Given the description of an element on the screen output the (x, y) to click on. 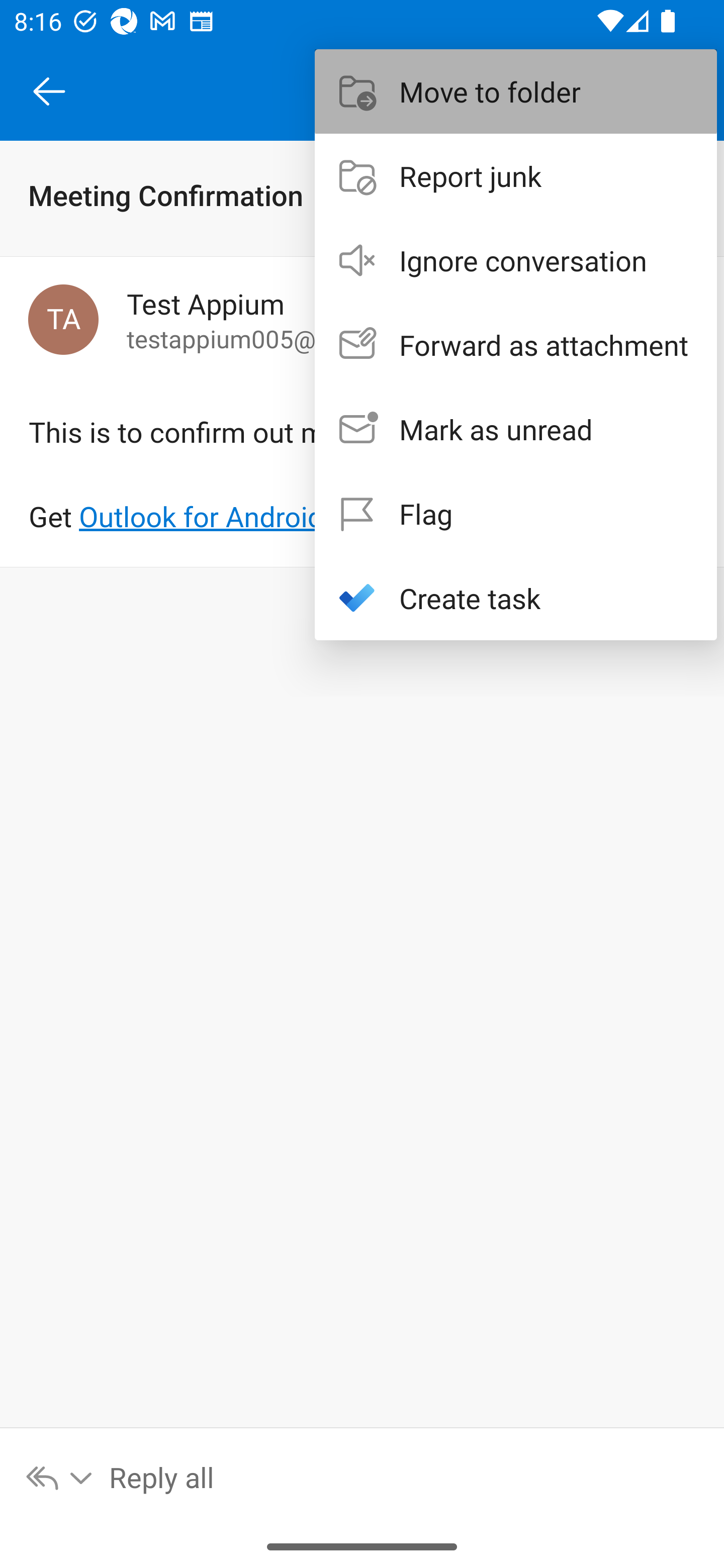
Move to folder (515, 90)
Report junk (515, 175)
Ignore conversation (515, 259)
Forward as attachment (515, 344)
Mark as unread (515, 429)
Flag (515, 513)
Create task (515, 597)
